Given the description of an element on the screen output the (x, y) to click on. 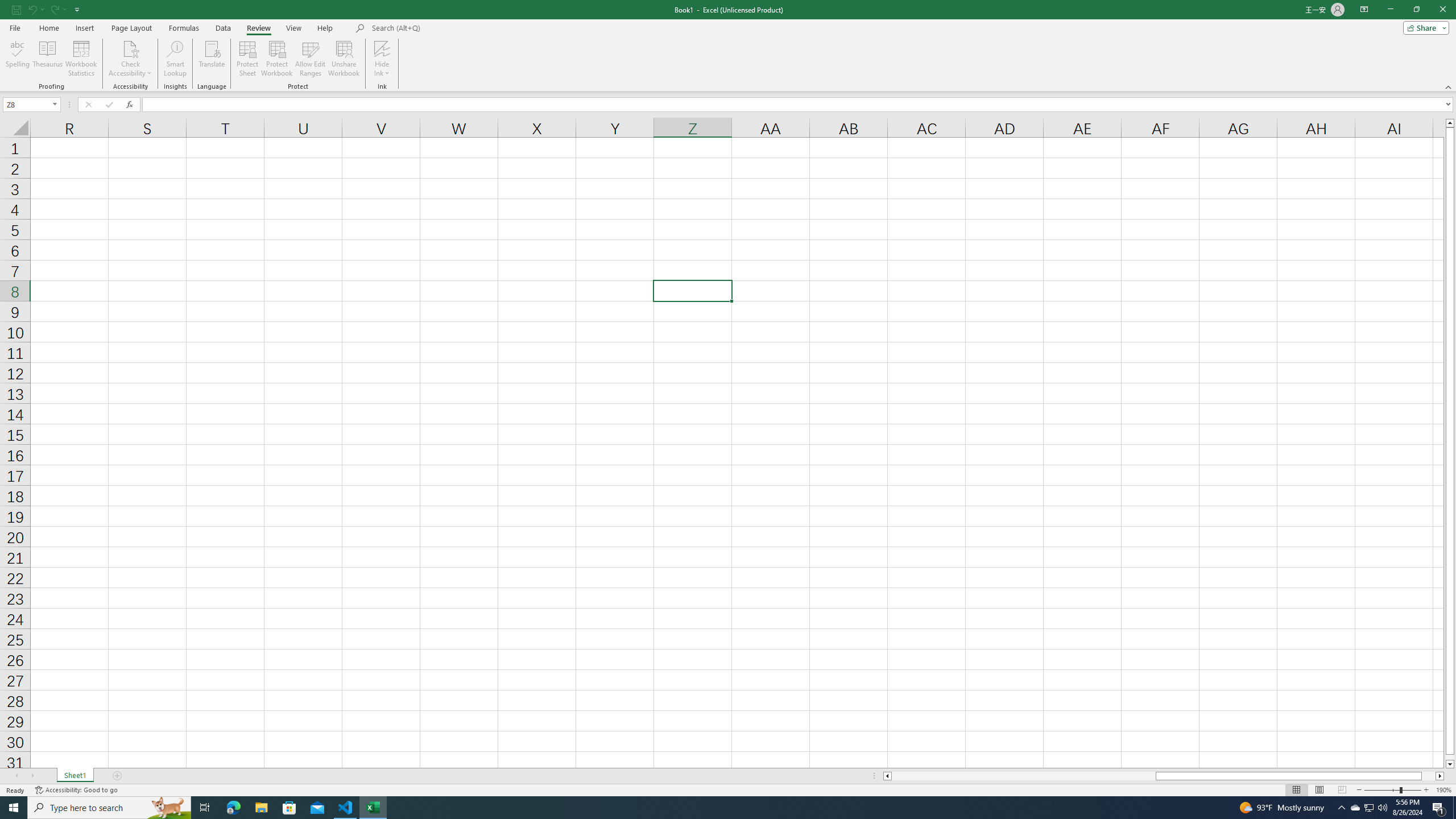
Protect Workbook... (277, 58)
Class: NetUIScrollBar (1163, 775)
Add Sheet (117, 775)
Check Accessibility (129, 58)
Minimize (1390, 9)
Hide Ink (381, 58)
Home (48, 28)
Protect Sheet... (247, 58)
Collapse the Ribbon (1448, 86)
Open (54, 104)
Check Accessibility (129, 48)
Help (325, 28)
Class: MsoCommandBar (728, 45)
